Given the description of an element on the screen output the (x, y) to click on. 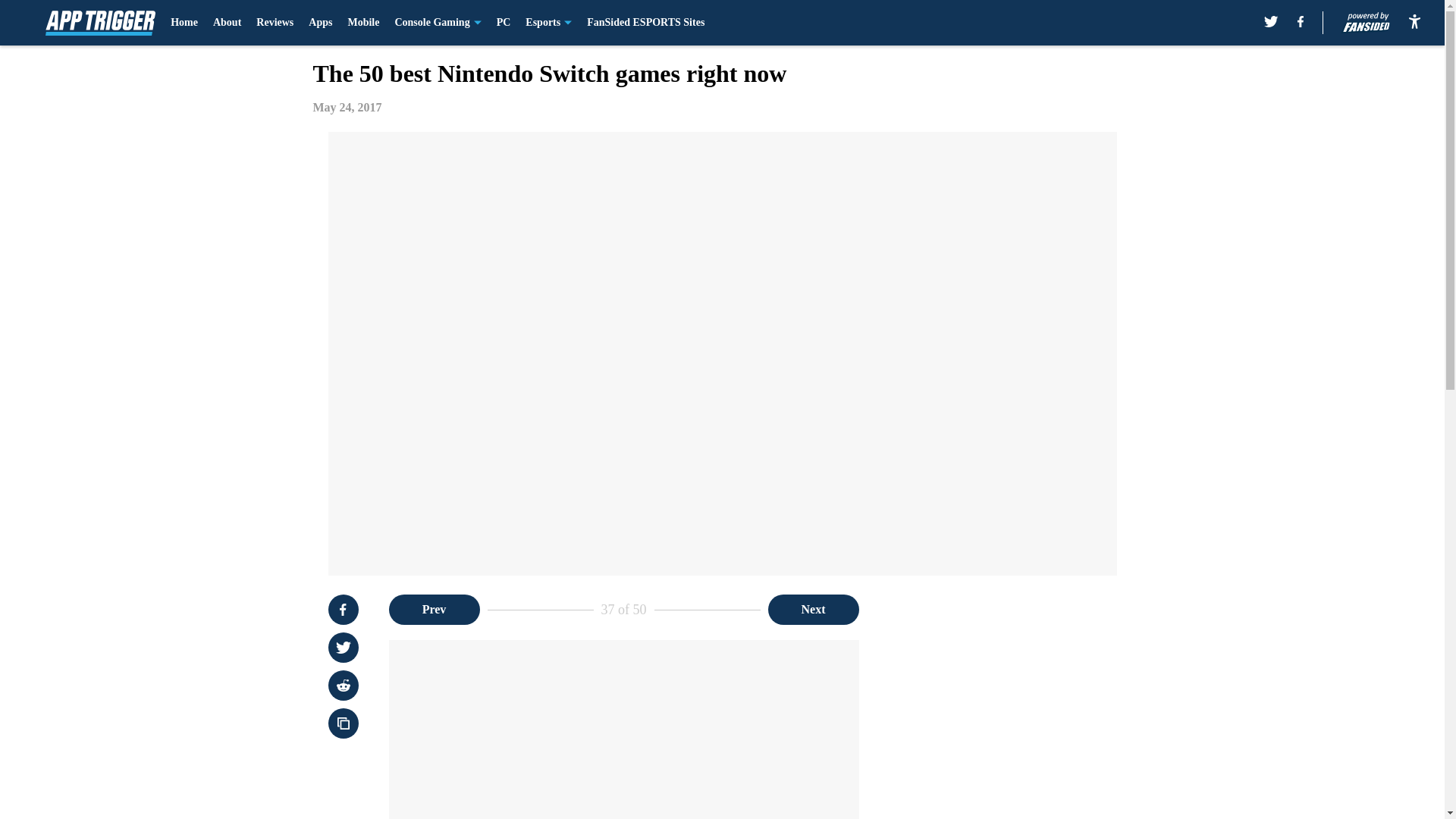
PC (503, 22)
Reviews (275, 22)
Next (813, 609)
FanSided ESPORTS Sites (645, 22)
Mobile (362, 22)
Prev (433, 609)
Home (184, 22)
About (226, 22)
Apps (319, 22)
